Given the description of an element on the screen output the (x, y) to click on. 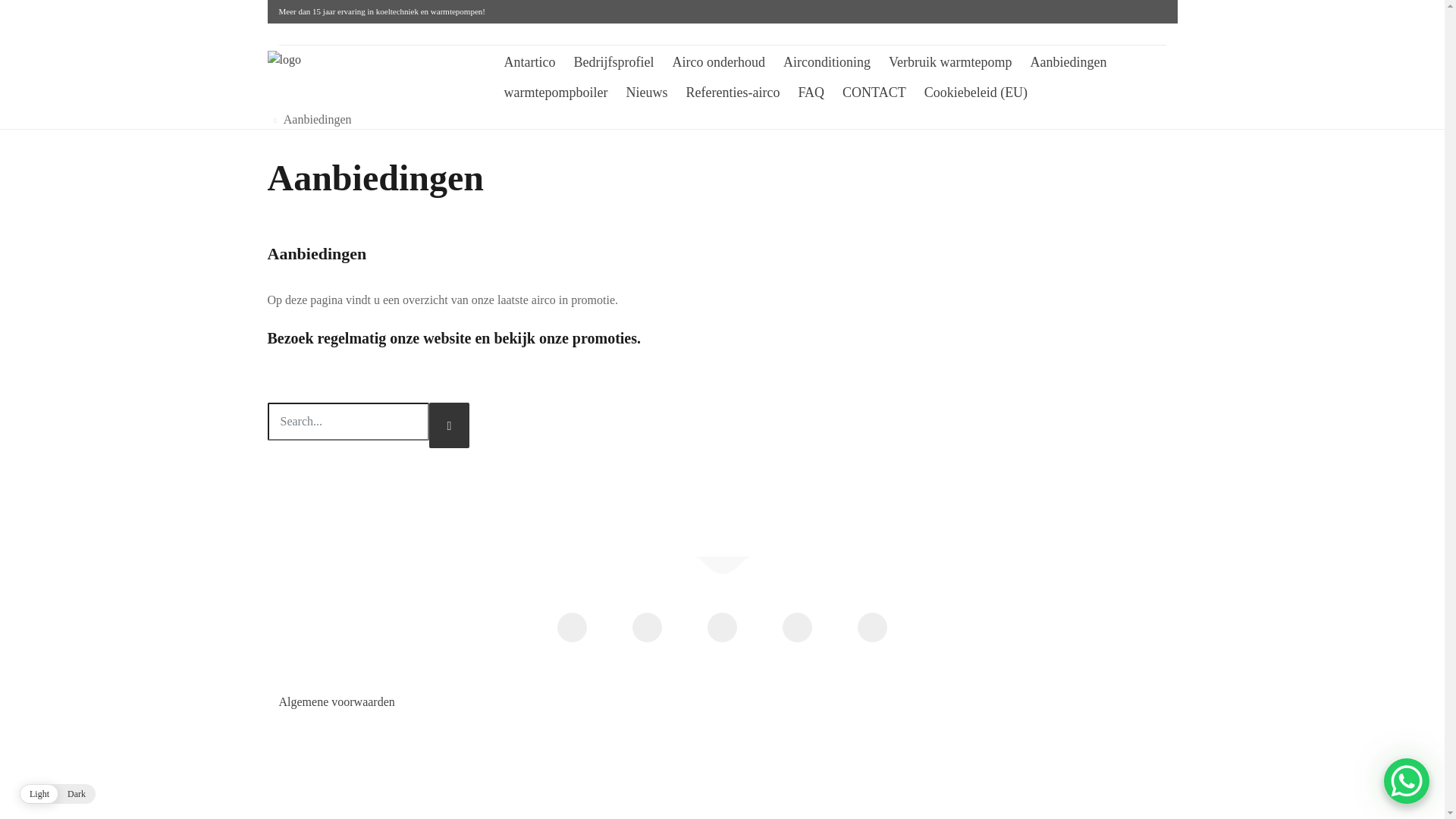
CONTACT Element type: text (874, 92)
Bedrijfsprofiel Element type: text (613, 62)
Cookiebeleid (EU) Element type: text (971, 92)
Aanbiedingen Element type: text (1067, 62)
Verbruik warmtepomp Element type: text (949, 62)
Referenties-airco Element type: text (732, 92)
Algemene voorwaarden Element type: text (337, 701)
warmtepompboiler Element type: text (555, 92)
FAQ Element type: text (810, 92)
Nieuws Element type: text (646, 92)
Antartico Element type: text (529, 62)
Airconditioning Element type: text (826, 62)
Airco onderhoud Element type: text (717, 62)
